Given the description of an element on the screen output the (x, y) to click on. 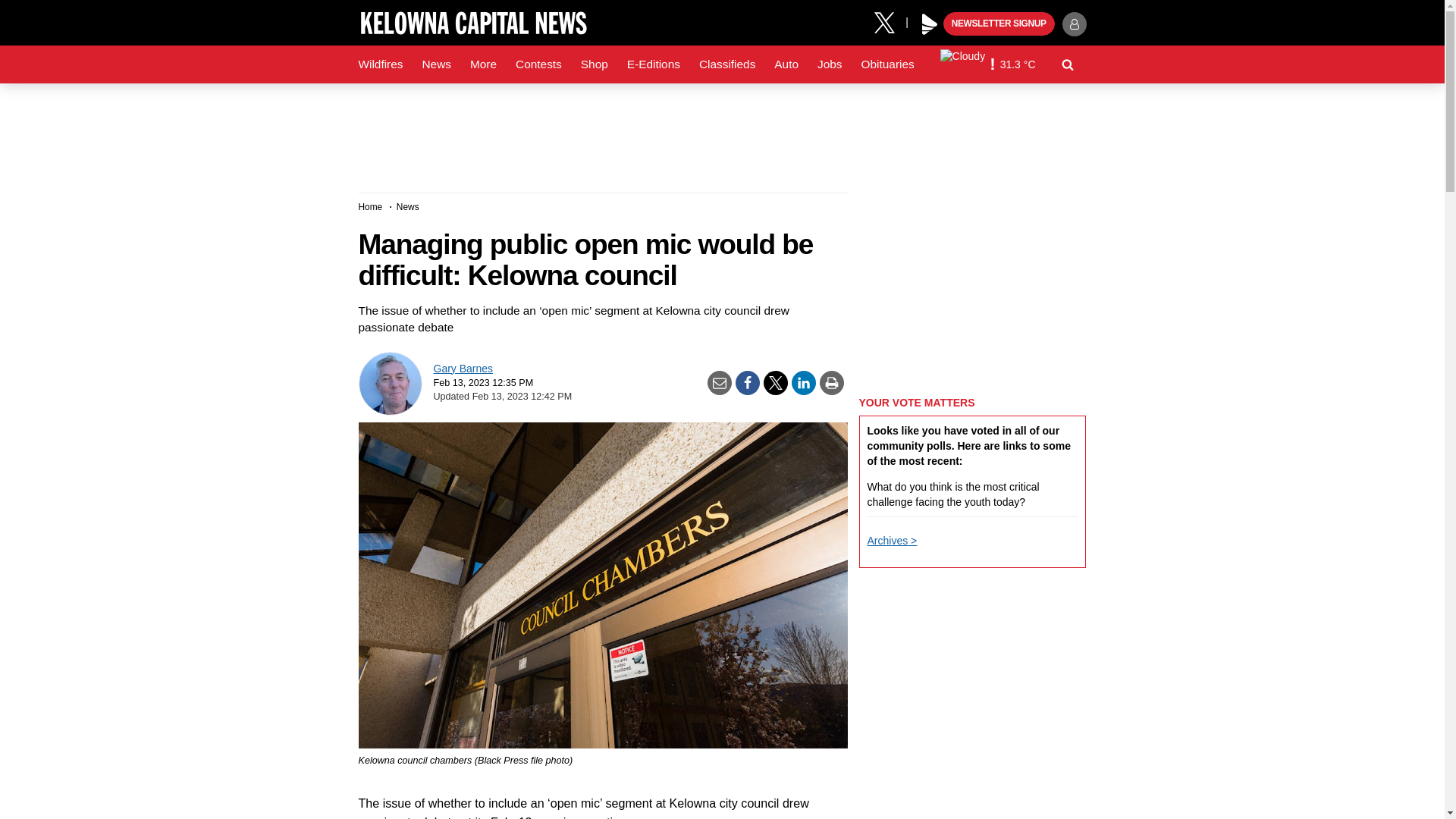
Play (929, 24)
NEWSLETTER SIGNUP (998, 24)
Wildfires (380, 64)
Black Press Media (929, 24)
News (435, 64)
X (889, 21)
